Given the description of an element on the screen output the (x, y) to click on. 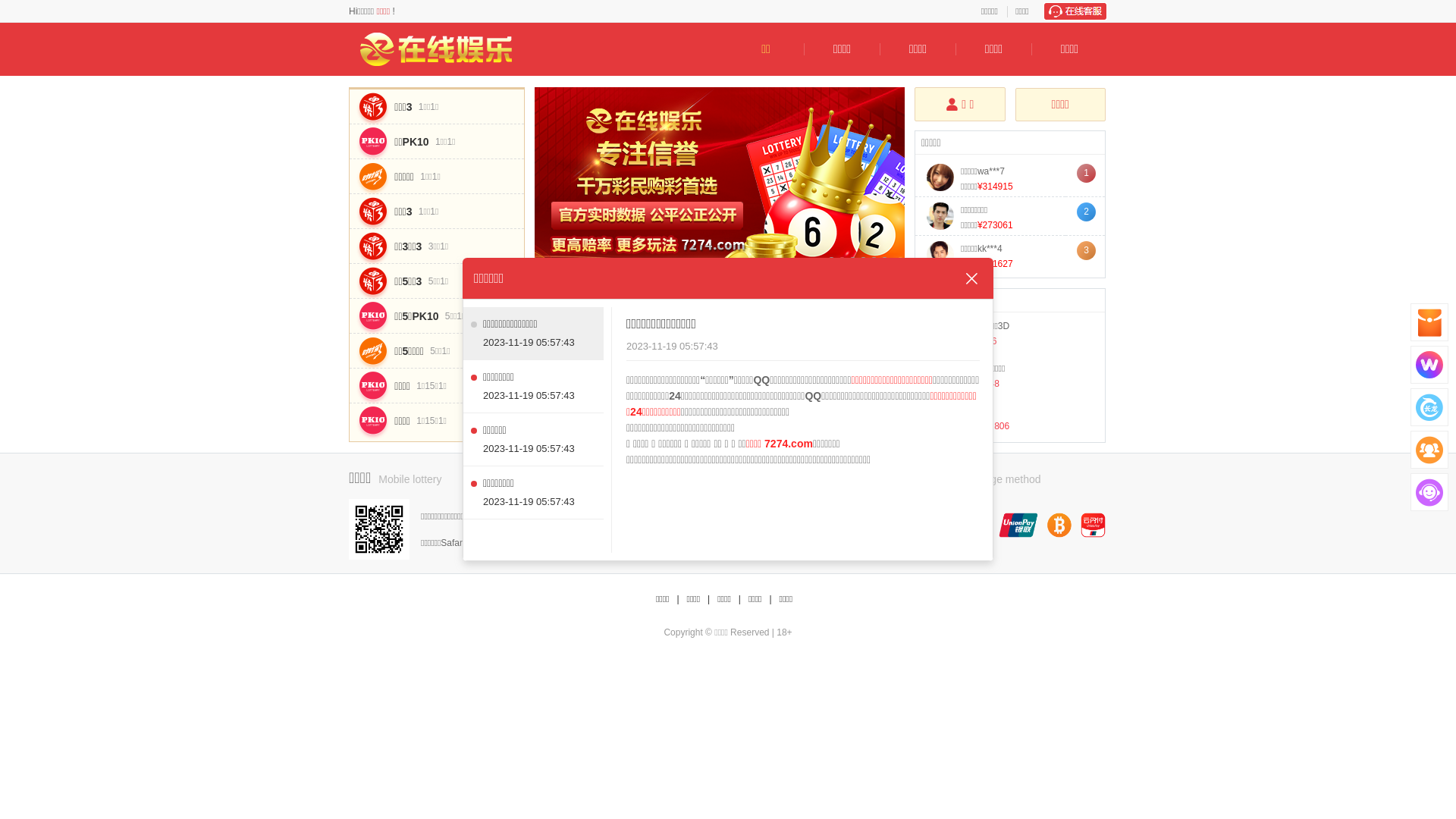
| Element type: text (739, 599)
| Element type: text (677, 599)
| Element type: text (769, 599)
| Element type: text (708, 599)
